Given the description of an element on the screen output the (x, y) to click on. 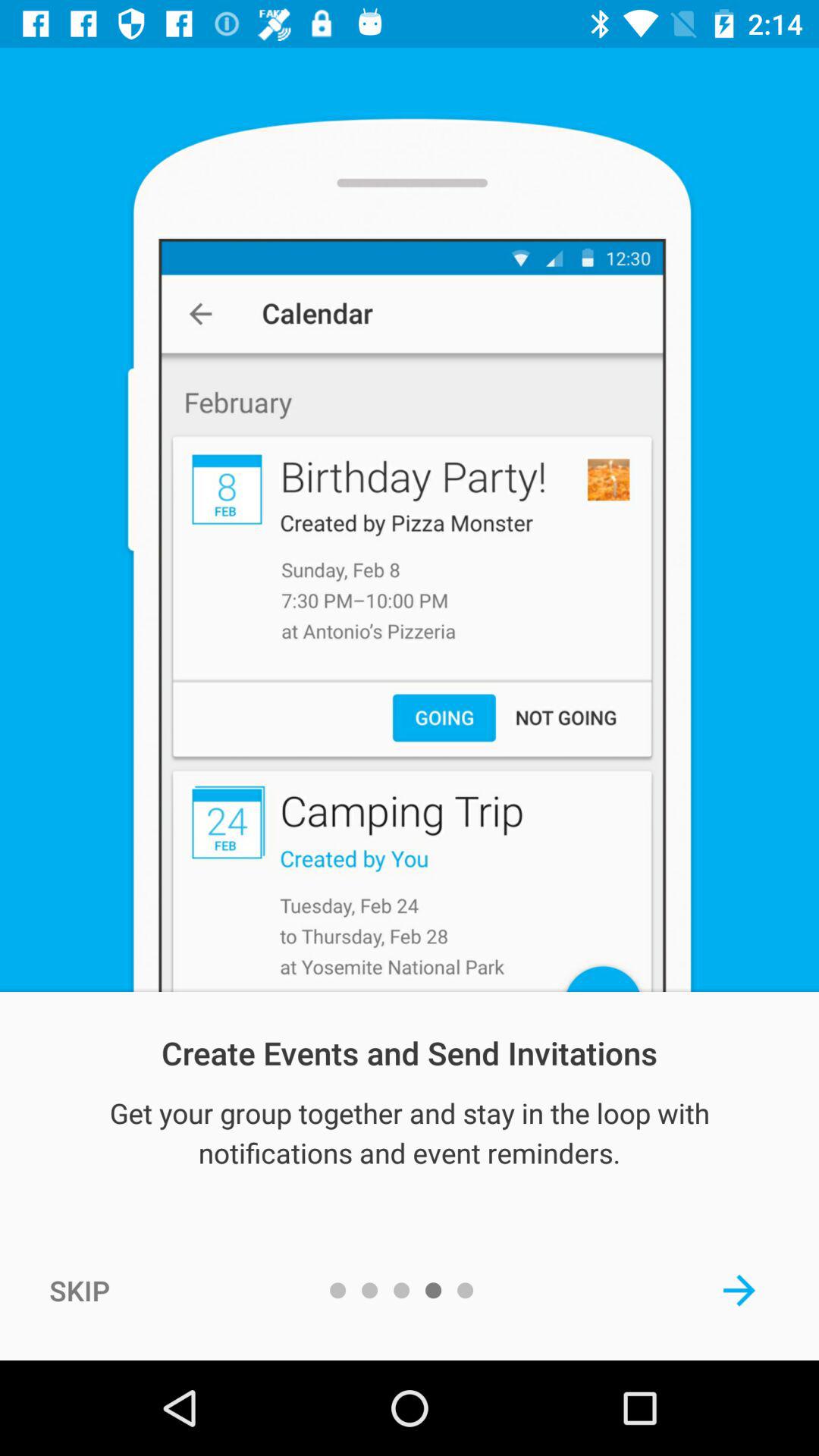
forward button (739, 1290)
